Given the description of an element on the screen output the (x, y) to click on. 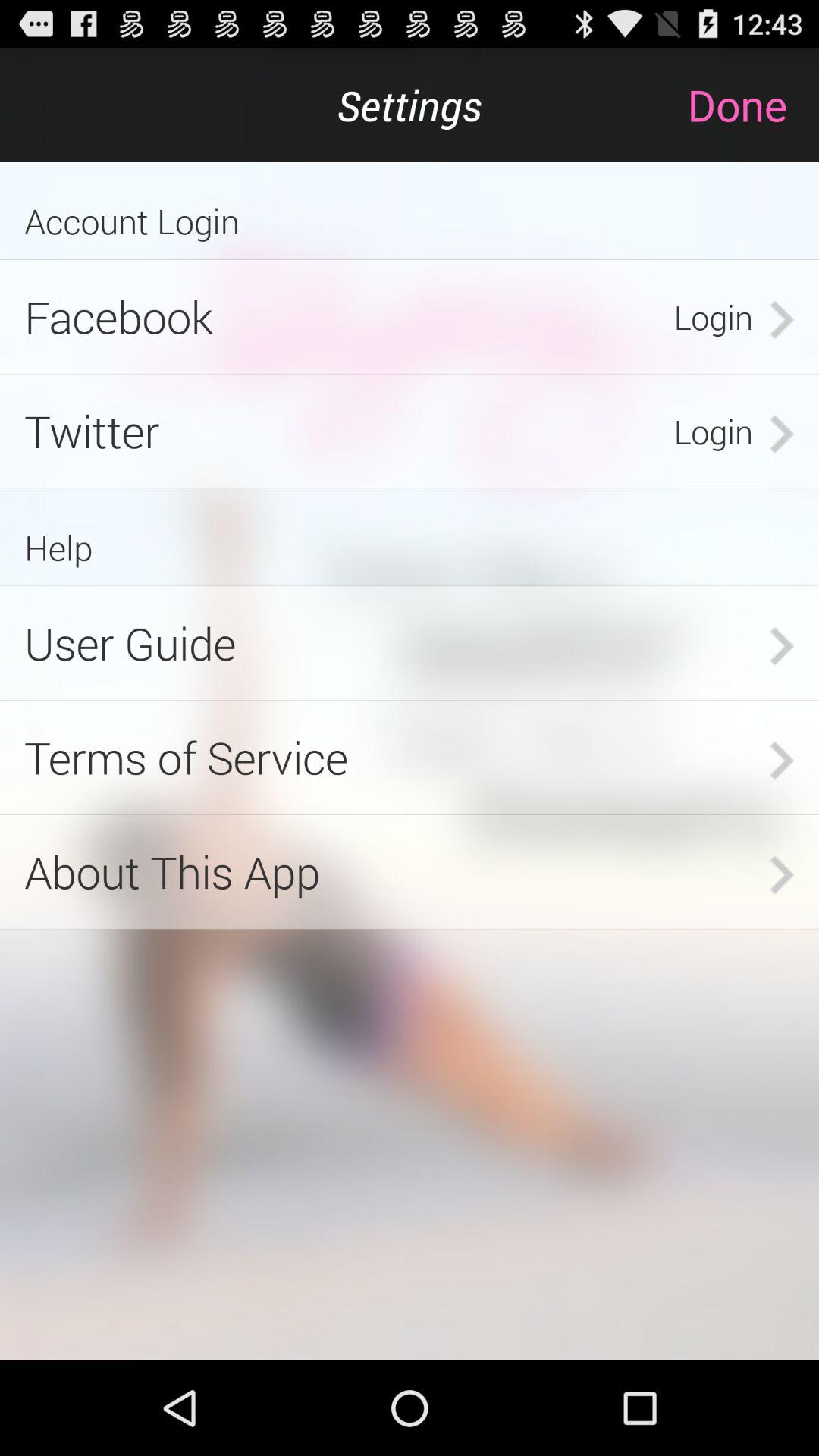
flip to the done icon (752, 104)
